Given the description of an element on the screen output the (x, y) to click on. 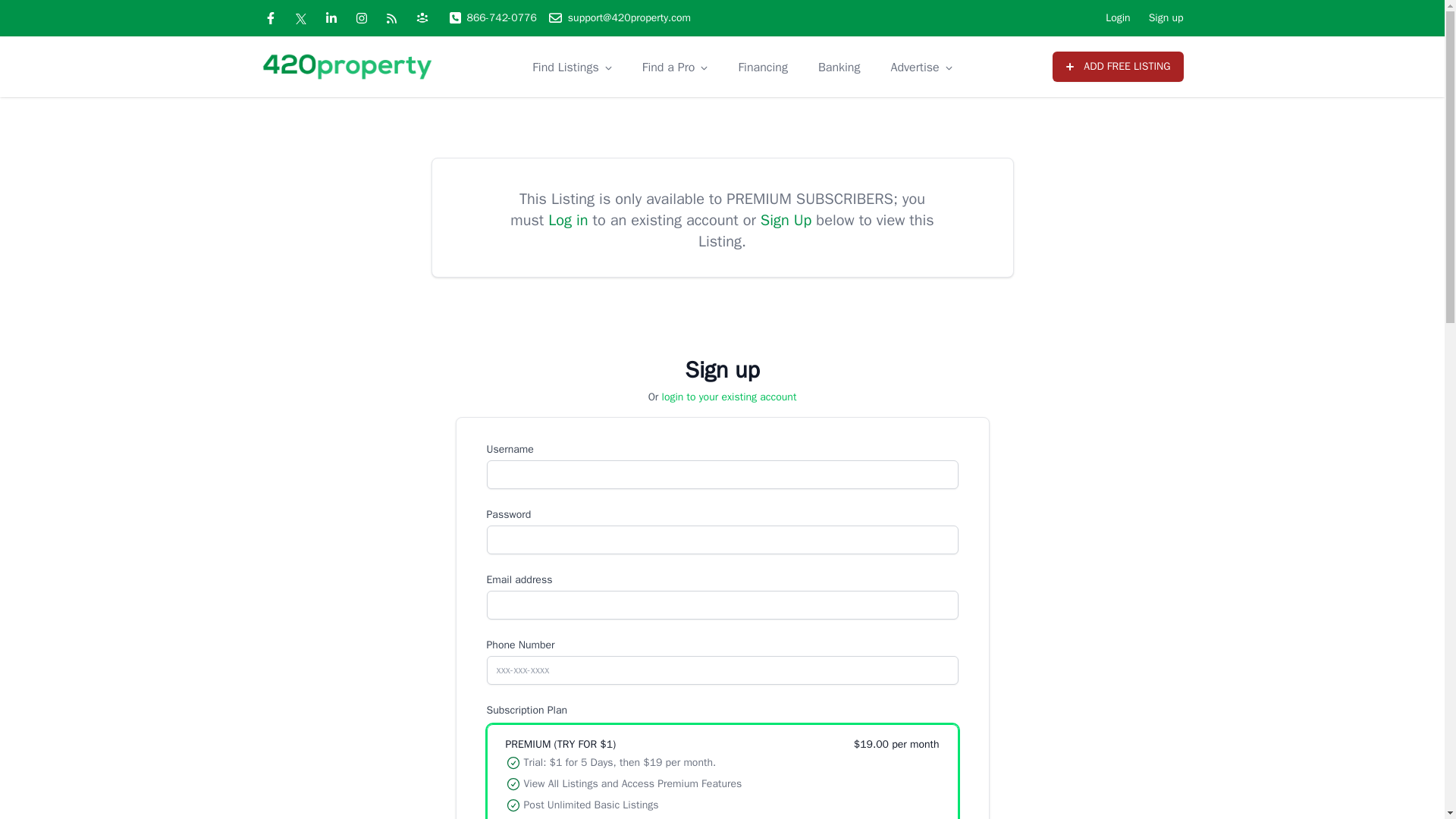
Login (1117, 17)
Find Listings (565, 67)
866-742-0776 (491, 18)
Sign up (1165, 17)
